Given the description of an element on the screen output the (x, y) to click on. 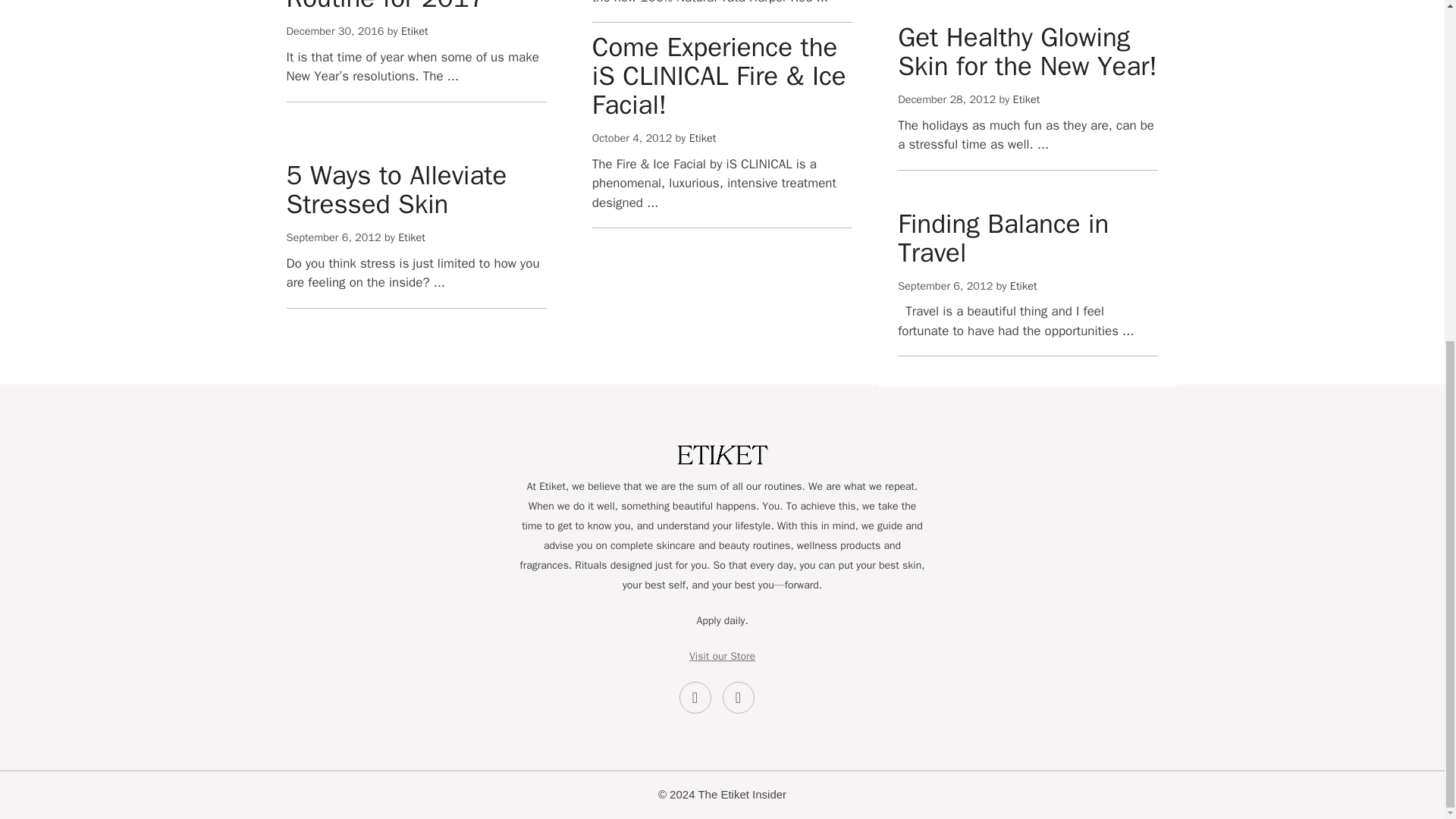
View all posts by Etiket (414, 30)
